Given the description of an element on the screen output the (x, y) to click on. 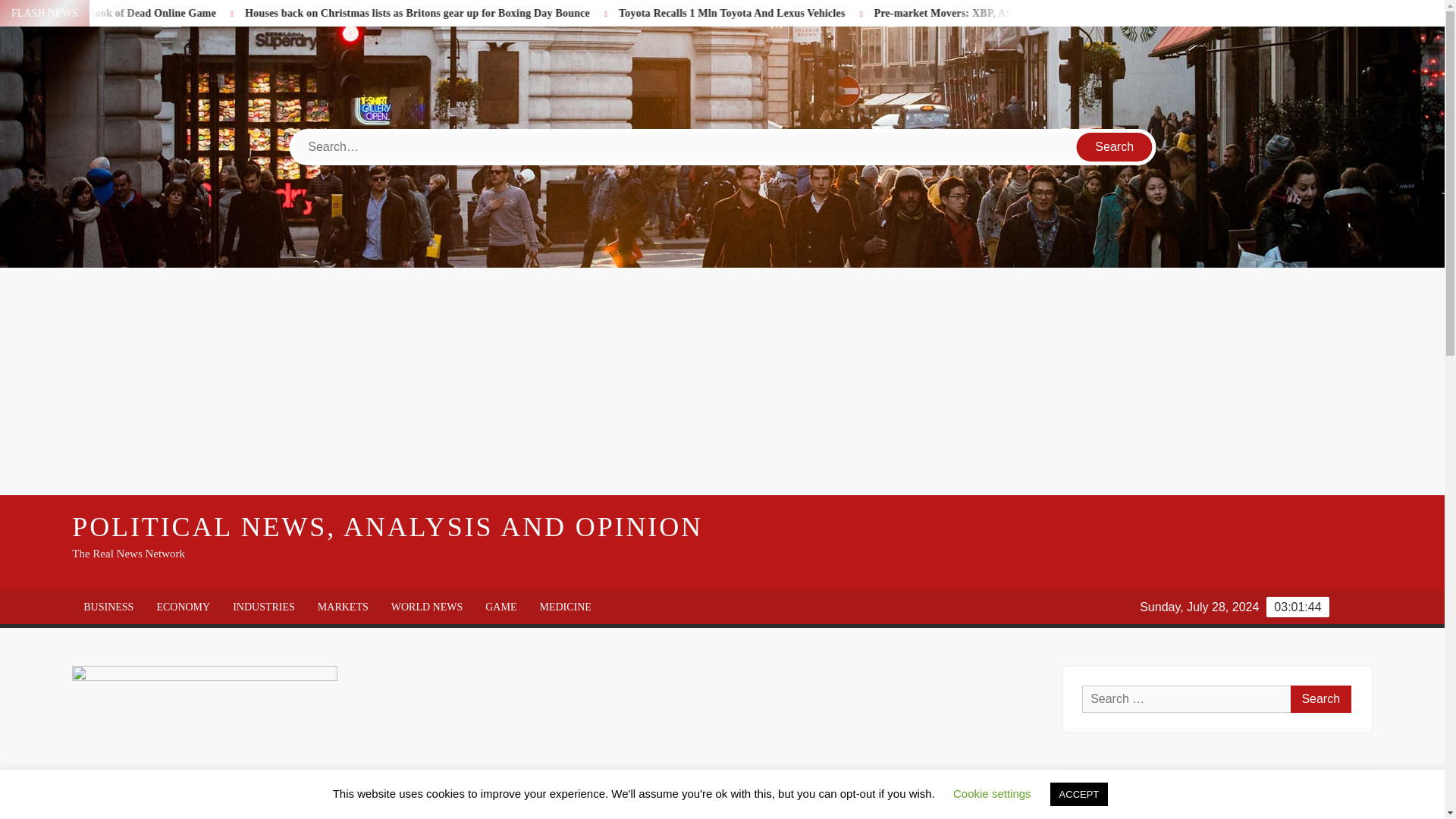
BUSINESS (107, 606)
POLITICAL NEWS, ANALYSIS AND OPINION (387, 526)
WORLD NEWS (427, 606)
GAME (500, 606)
Search (1320, 698)
Search (1115, 146)
ECONOMY (182, 606)
MEDICINE (564, 606)
INDUSTRIES (263, 606)
Toyota Recalls 1 Mln Toyota And Lexus Vehicles (840, 12)
MARKETS (342, 606)
Search (1115, 146)
Search (1115, 146)
Toyota Recalls 1 Mln Toyota And Lexus Vehicles (890, 12)
